Given the description of an element on the screen output the (x, y) to click on. 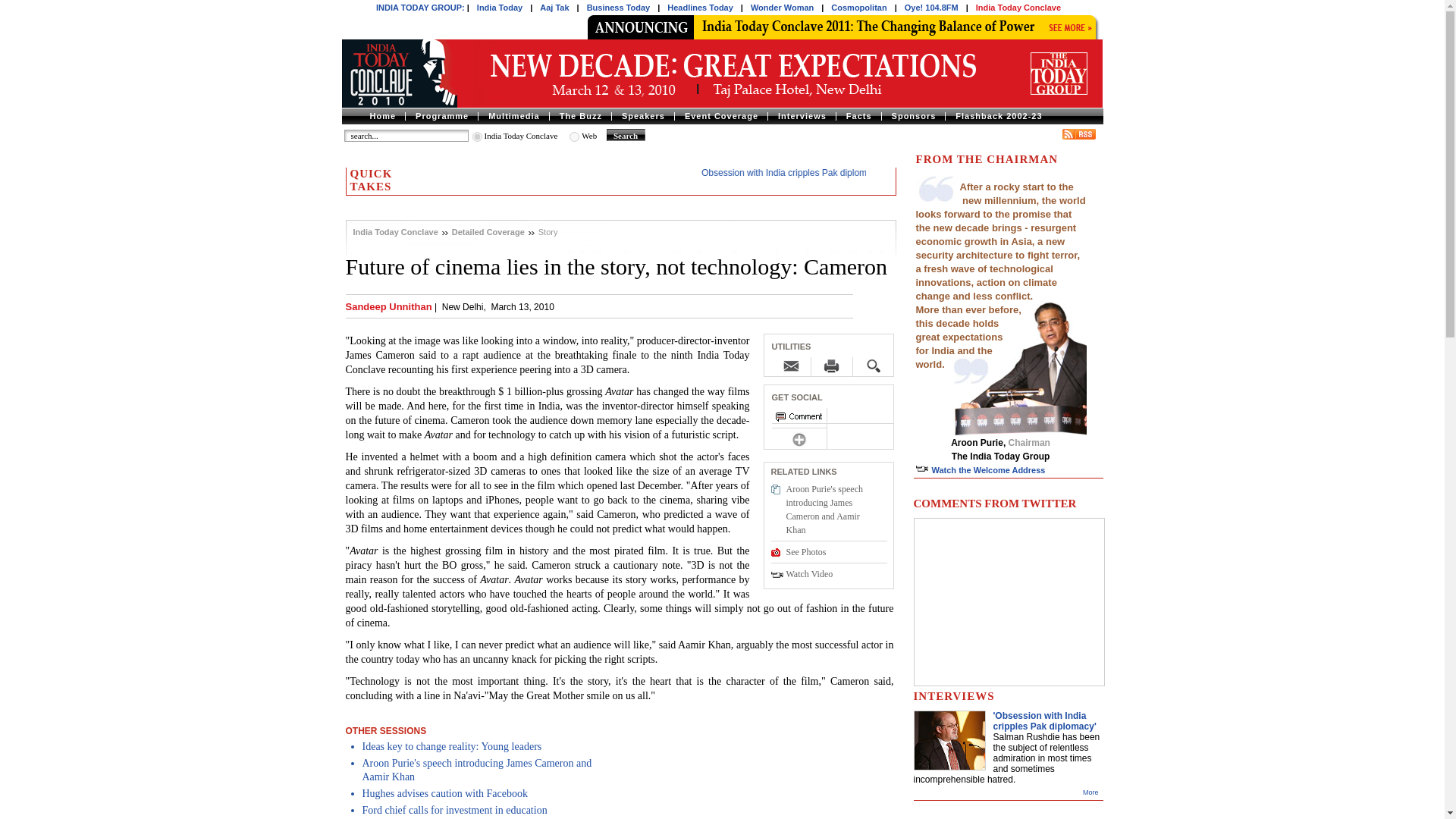
The Buzz (579, 116)
web (574, 136)
Sponsors (912, 116)
India Today (499, 7)
Event Coverage (720, 116)
Business Today (618, 7)
Headlines Today (699, 7)
bt (476, 136)
Facts (858, 116)
Interviews (801, 116)
